Given the description of an element on the screen output the (x, y) to click on. 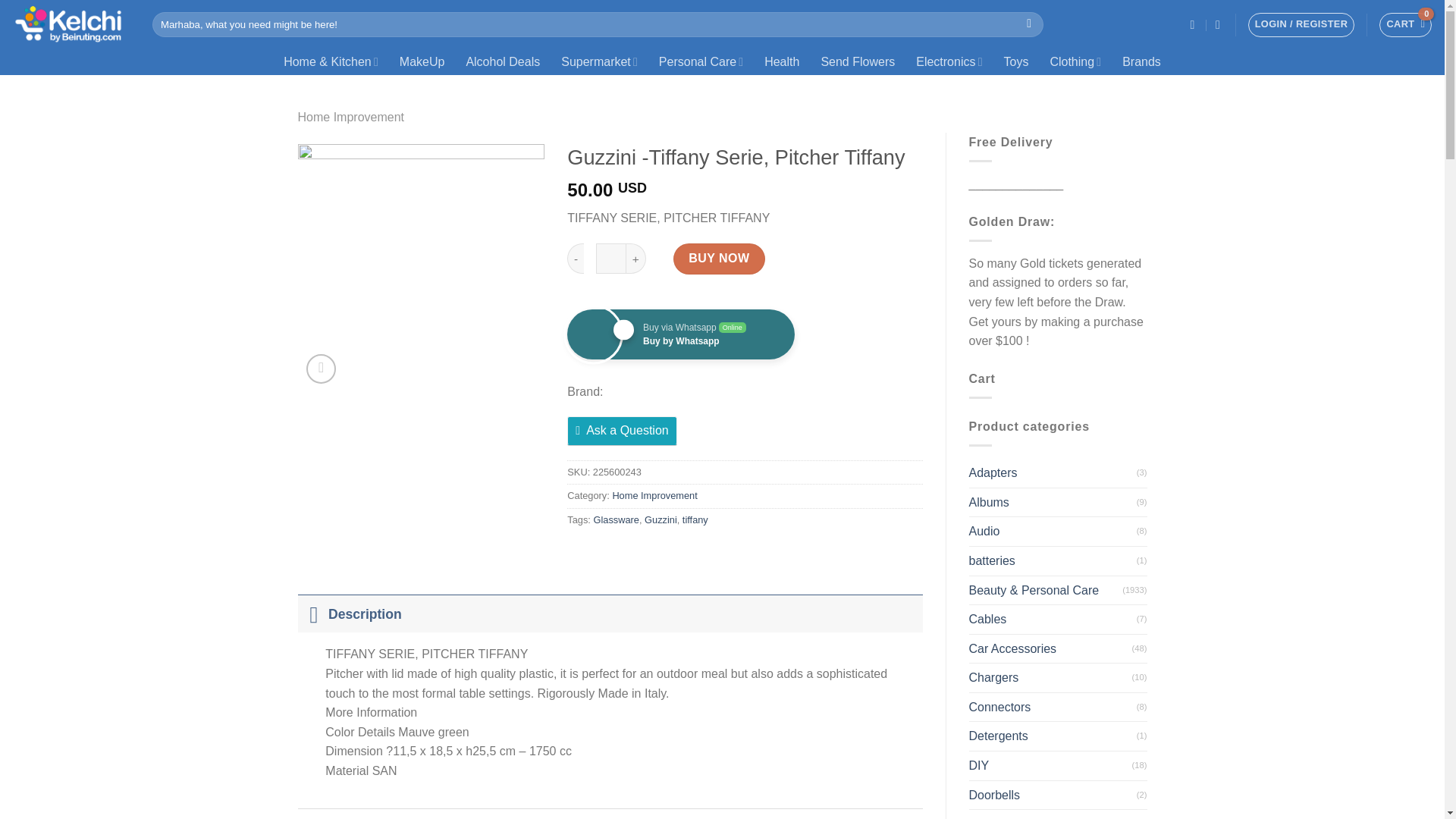
Login (1301, 24)
Search (1029, 24)
Zoom (320, 368)
MakeUp (421, 61)
CART (1404, 24)
Alcohol Deals (502, 61)
Personal Care (700, 61)
Cart (1404, 24)
Supermarket (598, 61)
